Given the description of an element on the screen output the (x, y) to click on. 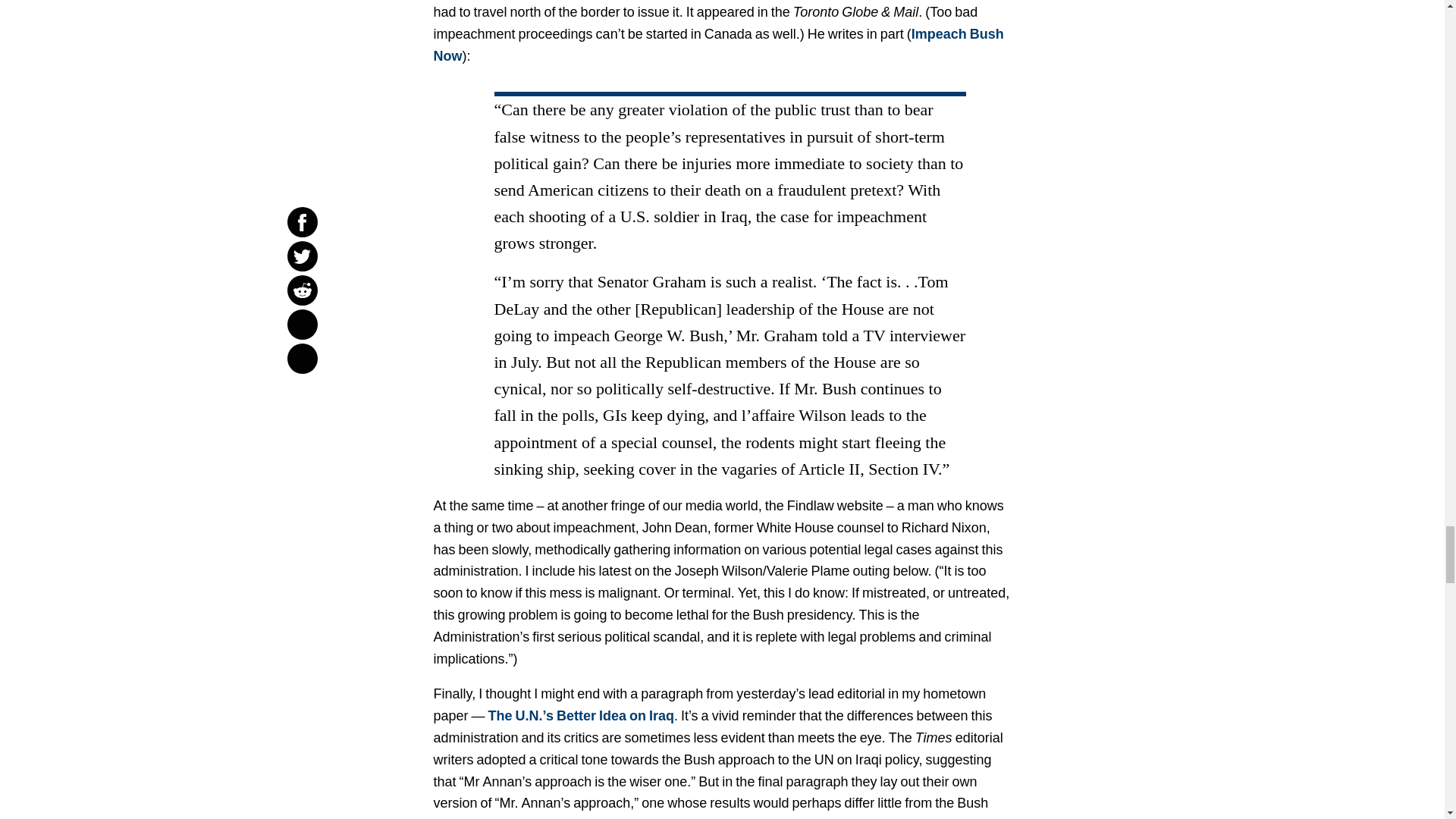
Impeach Bush Now (718, 45)
